Given the description of an element on the screen output the (x, y) to click on. 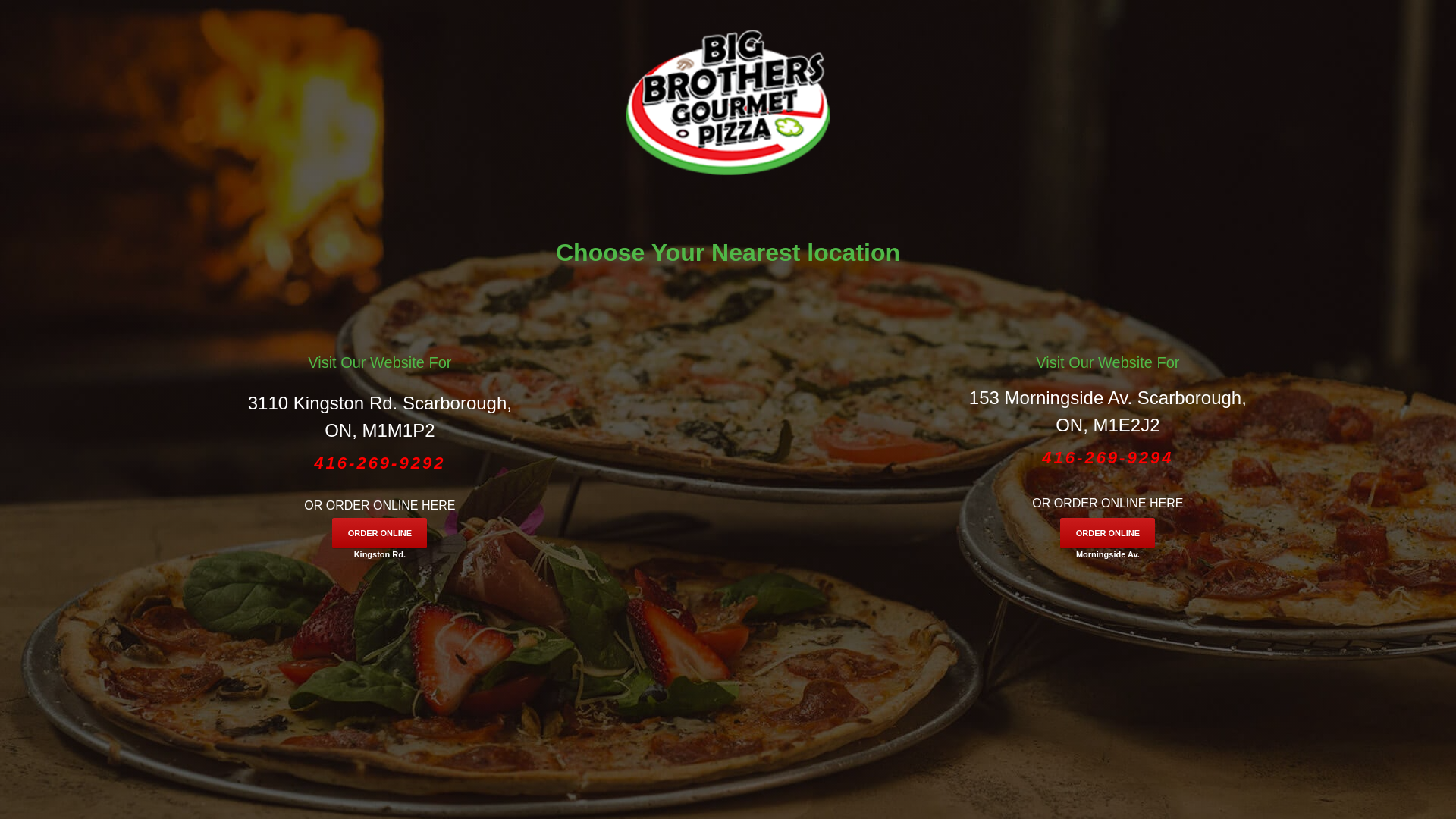
416-269-9294 Element type: text (1107, 458)
416-269-9292 Element type: text (379, 463)
Visit Our Website For Element type: text (379, 362)
3110 Kingston Rd. Scarborough,
ON, M1M1P2 Element type: text (379, 416)
153 Morningside Av. Scarborough,
ON, M1E2J2 Element type: text (1107, 411)
